Given the description of an element on the screen output the (x, y) to click on. 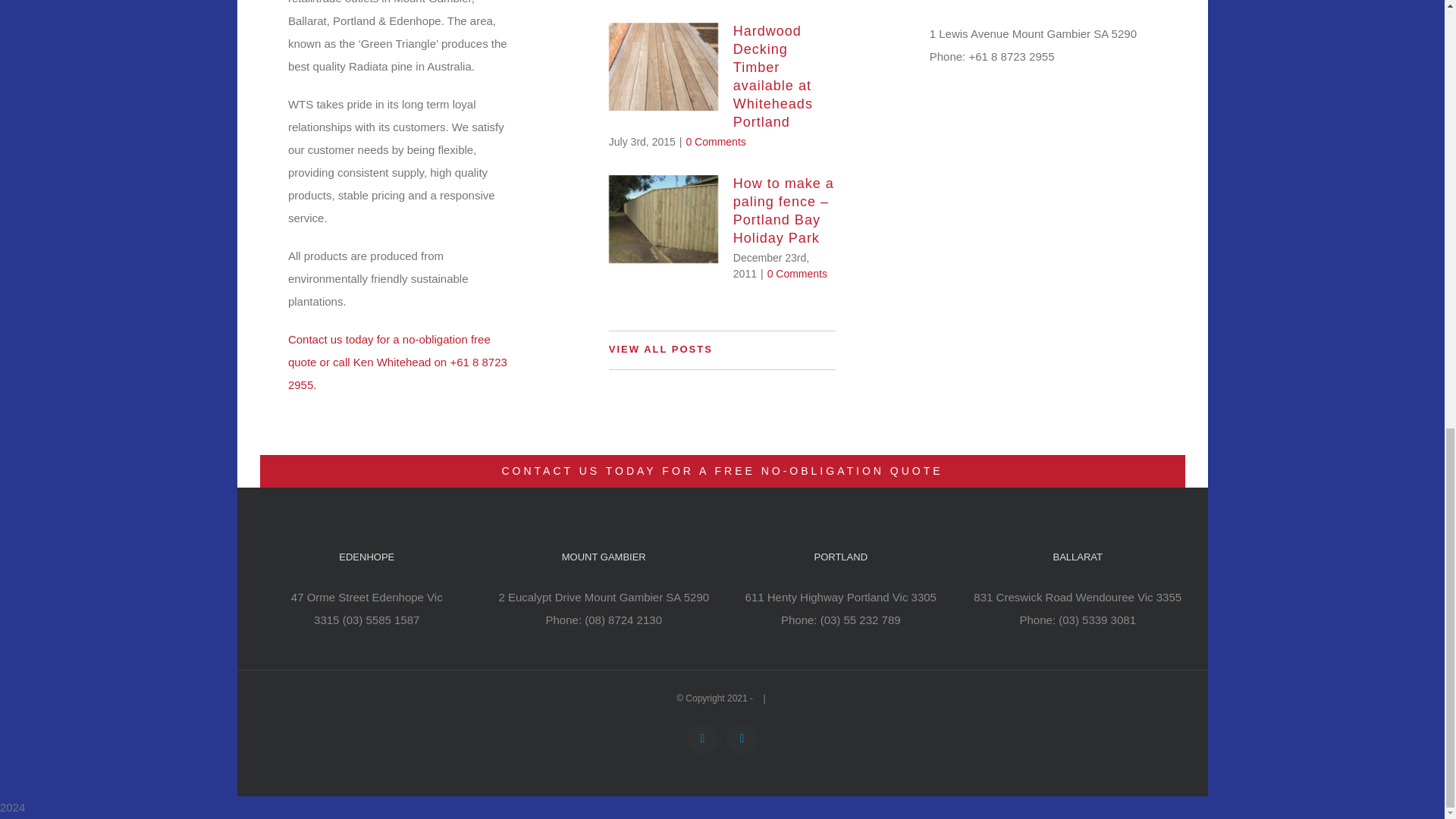
CONTACT US TODAY FOR A FREE NO-OBLIGATION QUOTE (721, 471)
